Given the description of an element on the screen output the (x, y) to click on. 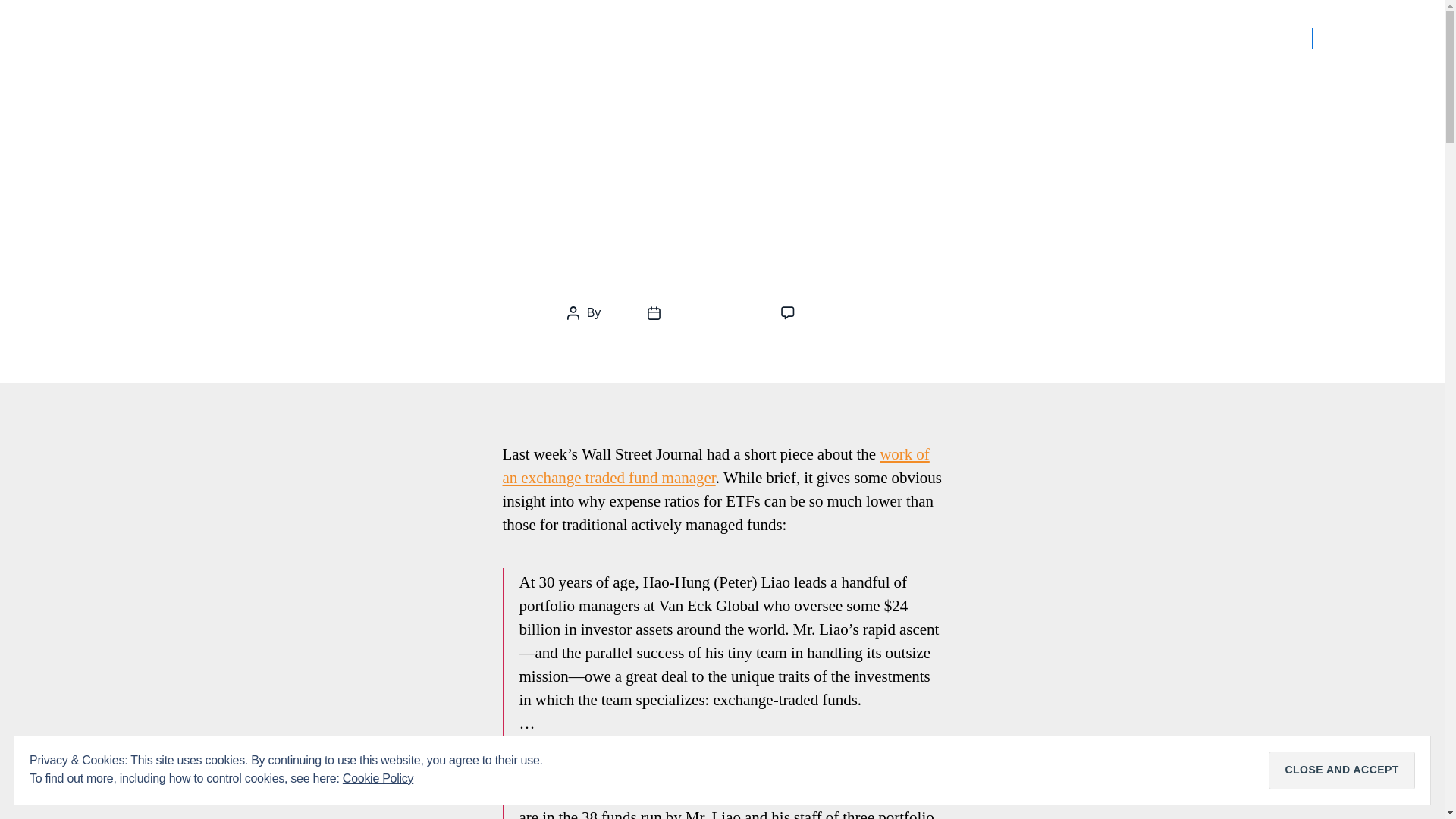
The International Investor (185, 37)
Close and accept (1341, 770)
International investing (695, 37)
Investment FAQ (829, 37)
